Given the description of an element on the screen output the (x, y) to click on. 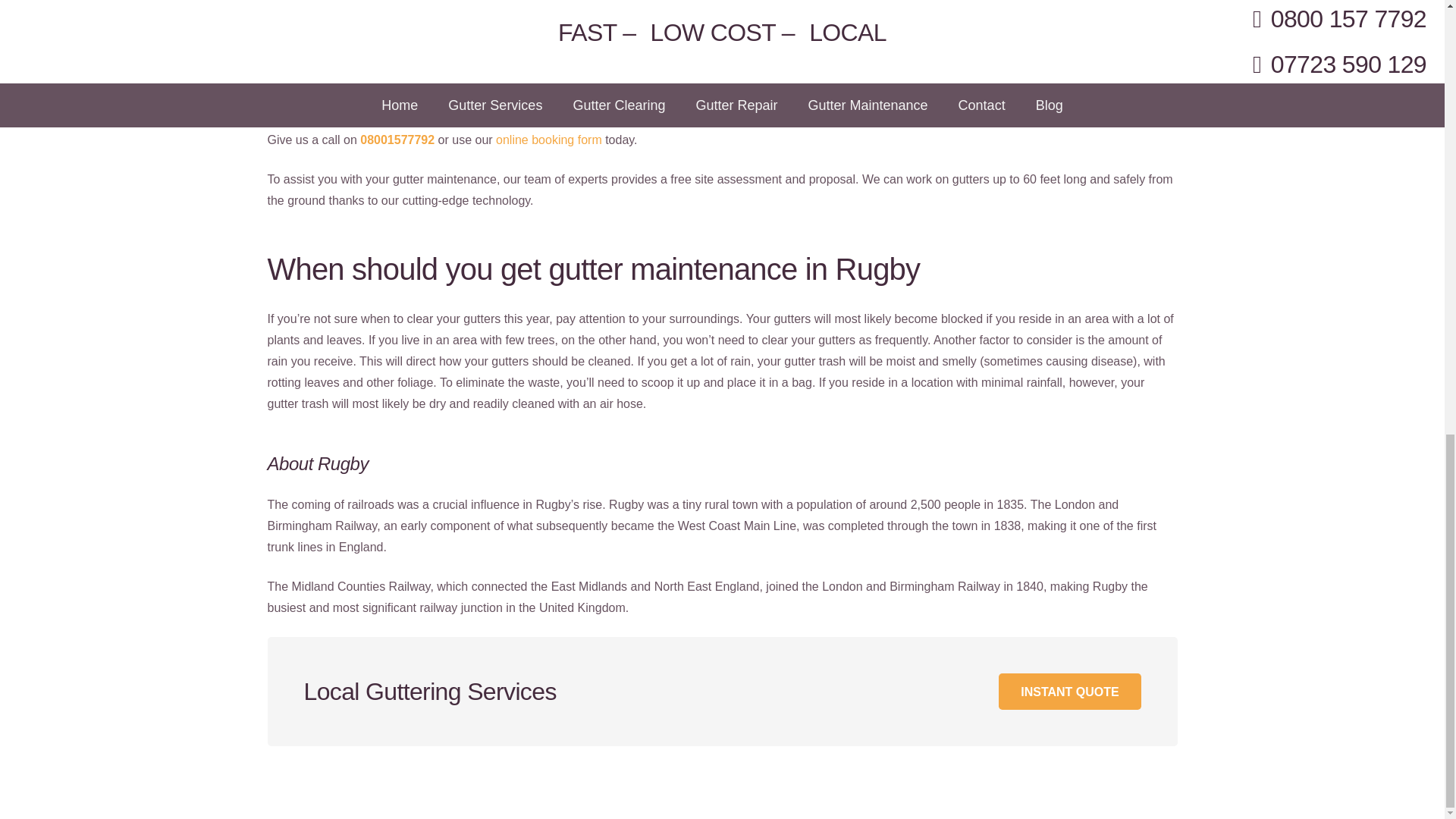
online booking form (549, 139)
Instant Quote (1069, 691)
08001577792 (396, 139)
INSTANT QUOTE (1069, 691)
